Given the description of an element on the screen output the (x, y) to click on. 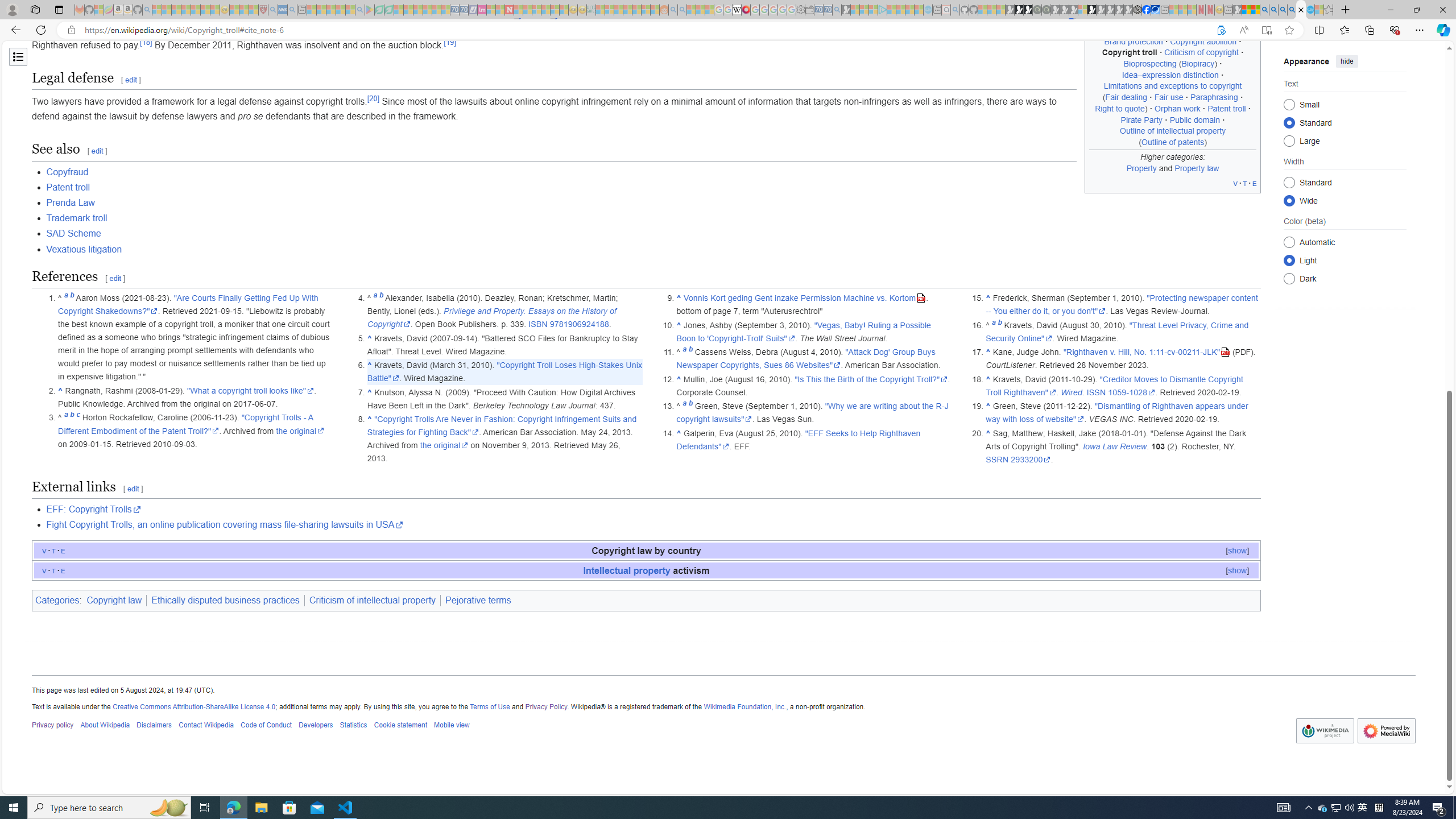
Google Chrome Internet Browser Download - Search Images (1291, 9)
Support Wikipedia? (1220, 29)
[18] (145, 41)
github - Search - Sleeping (954, 9)
Cookie statement (400, 725)
EFF: Copyright Trolls (93, 509)
Intellectual property (626, 570)
